Given the description of an element on the screen output the (x, y) to click on. 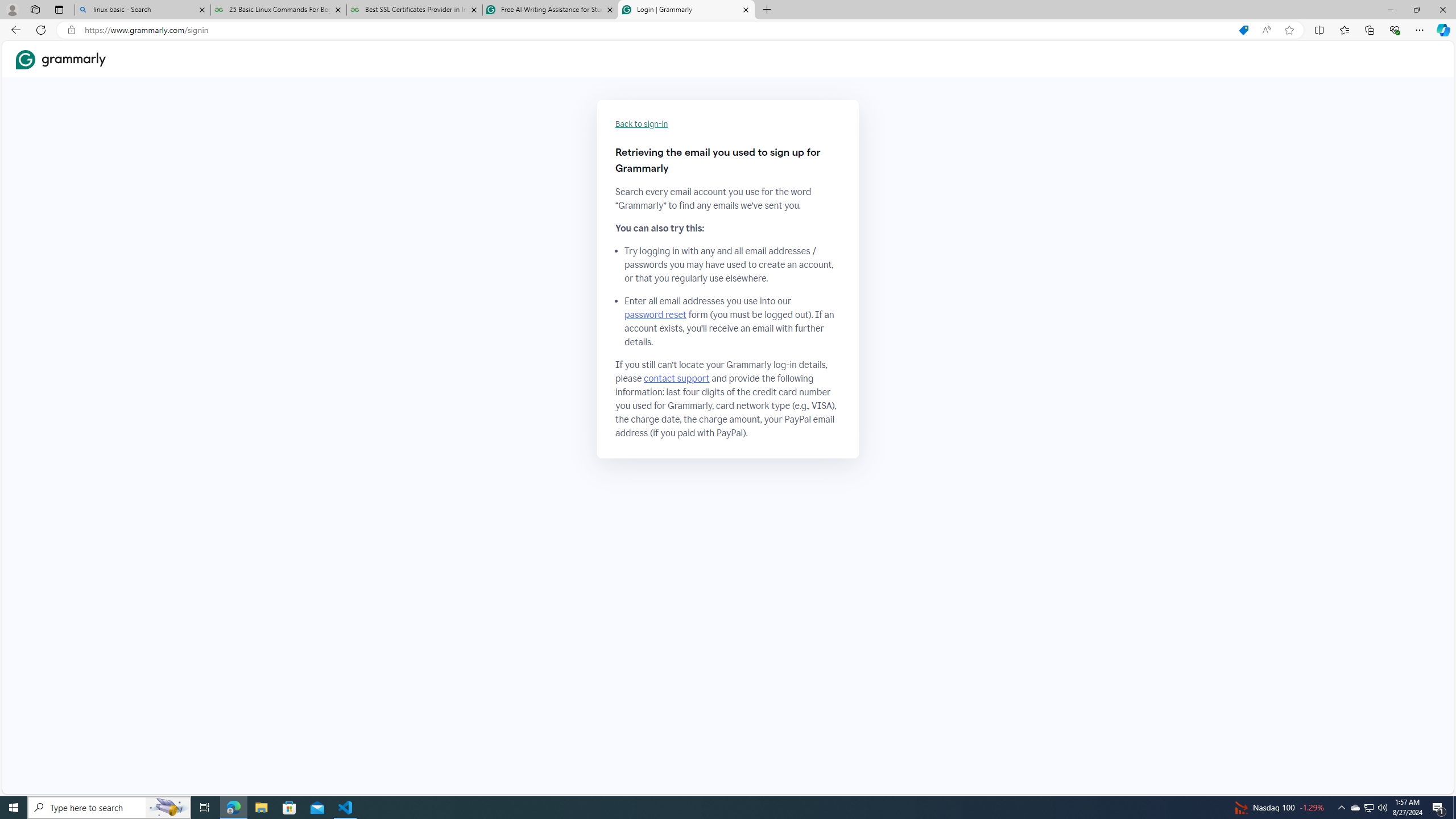
contact support (676, 378)
25 Basic Linux Commands For Beginners - GeeksforGeeks (277, 9)
Grammarly Home (61, 59)
